Given the description of an element on the screen output the (x, y) to click on. 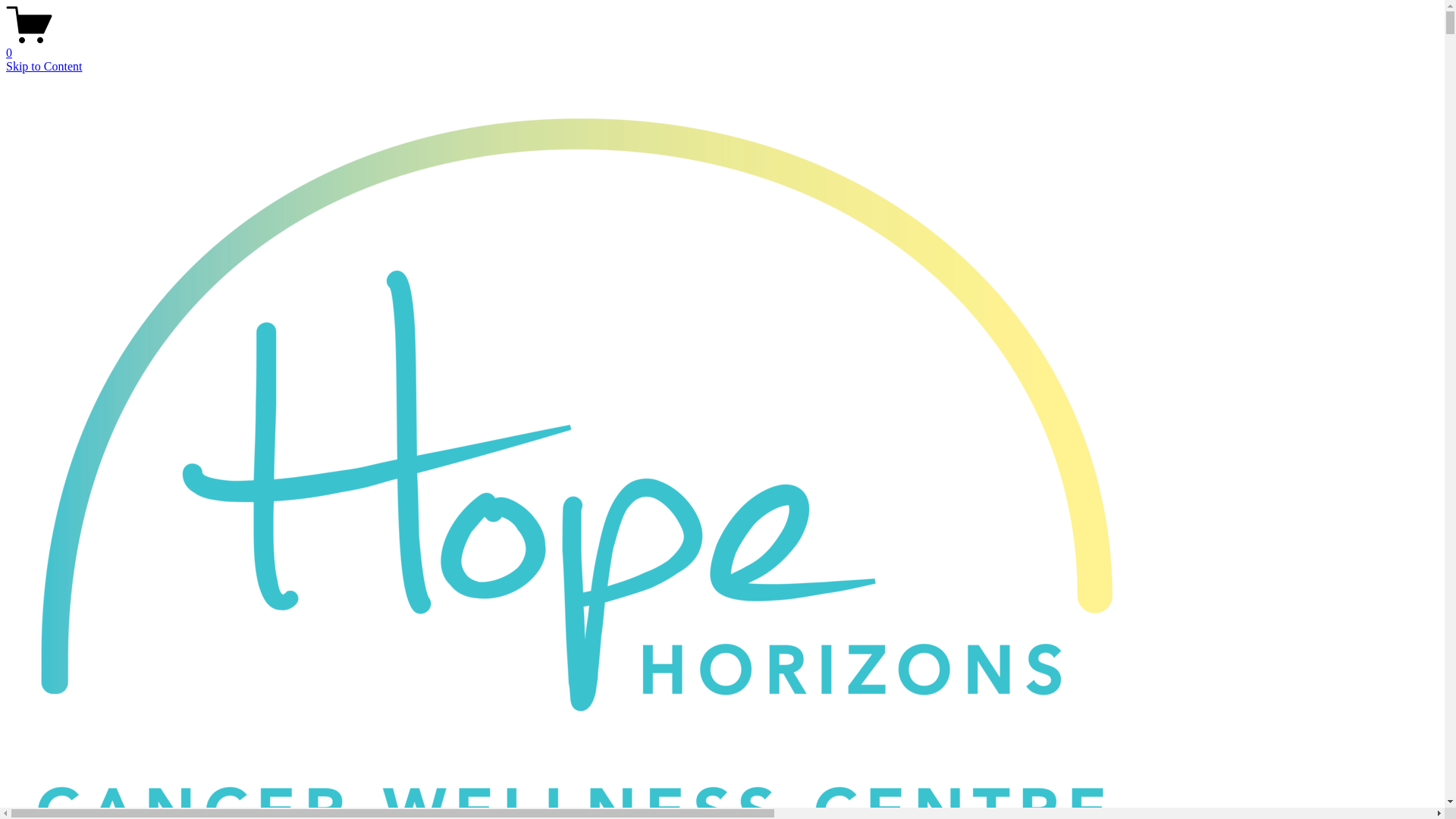
0 Element type: text (722, 45)
Skip to Content Element type: text (43, 65)
